Given the description of an element on the screen output the (x, y) to click on. 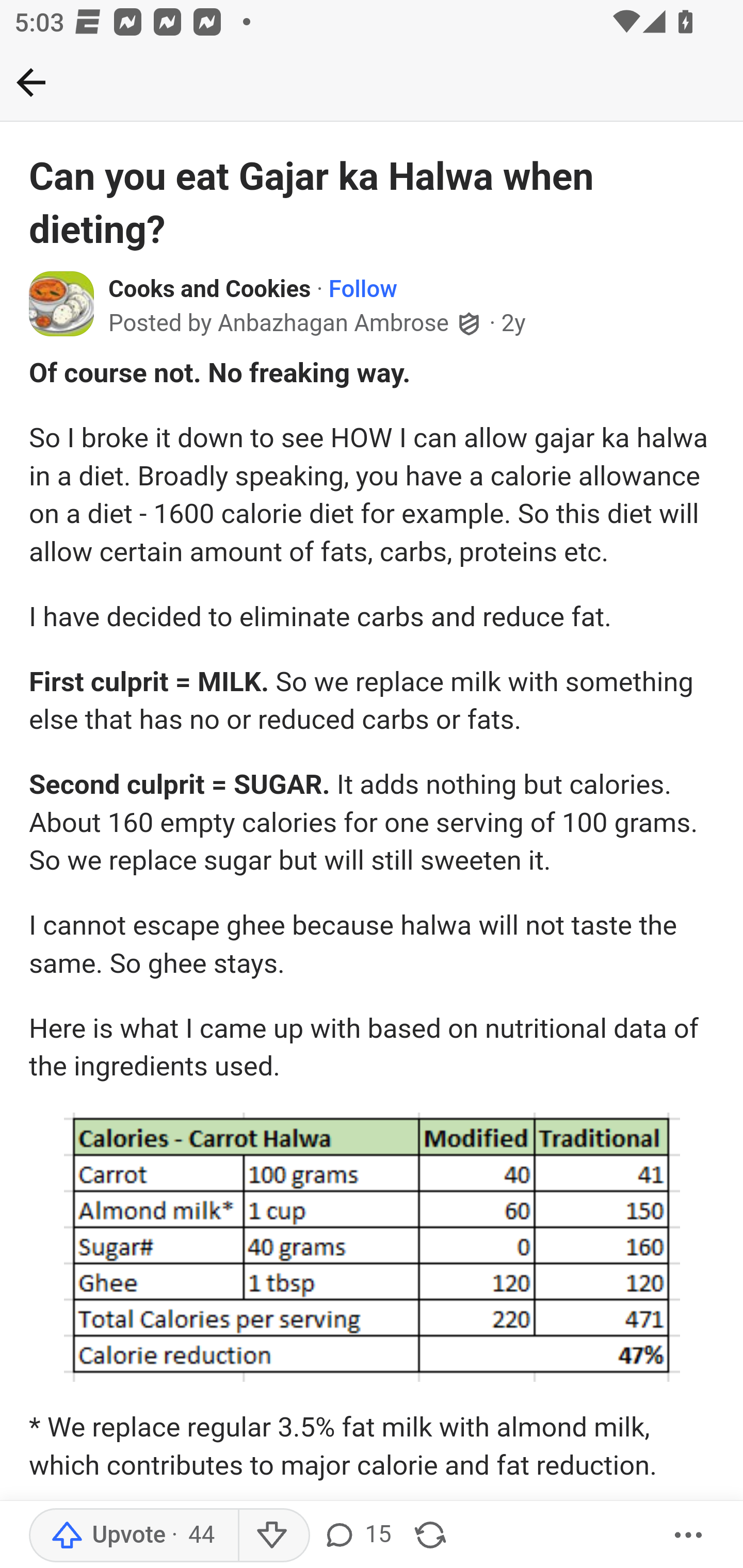
Back (30, 82)
Icon for Cooks and Cookies (61, 302)
Cooks and Cookies (210, 289)
Follow (362, 289)
Anbazhagan Ambrose (332, 323)
2y 2 y (513, 323)
main-qimg-ca32be9729363747625ade68871efc11 (371, 1246)
Upvote (133, 1535)
Downvote (273, 1535)
15 comments (356, 1535)
Share (430, 1535)
More (688, 1535)
